Given the description of an element on the screen output the (x, y) to click on. 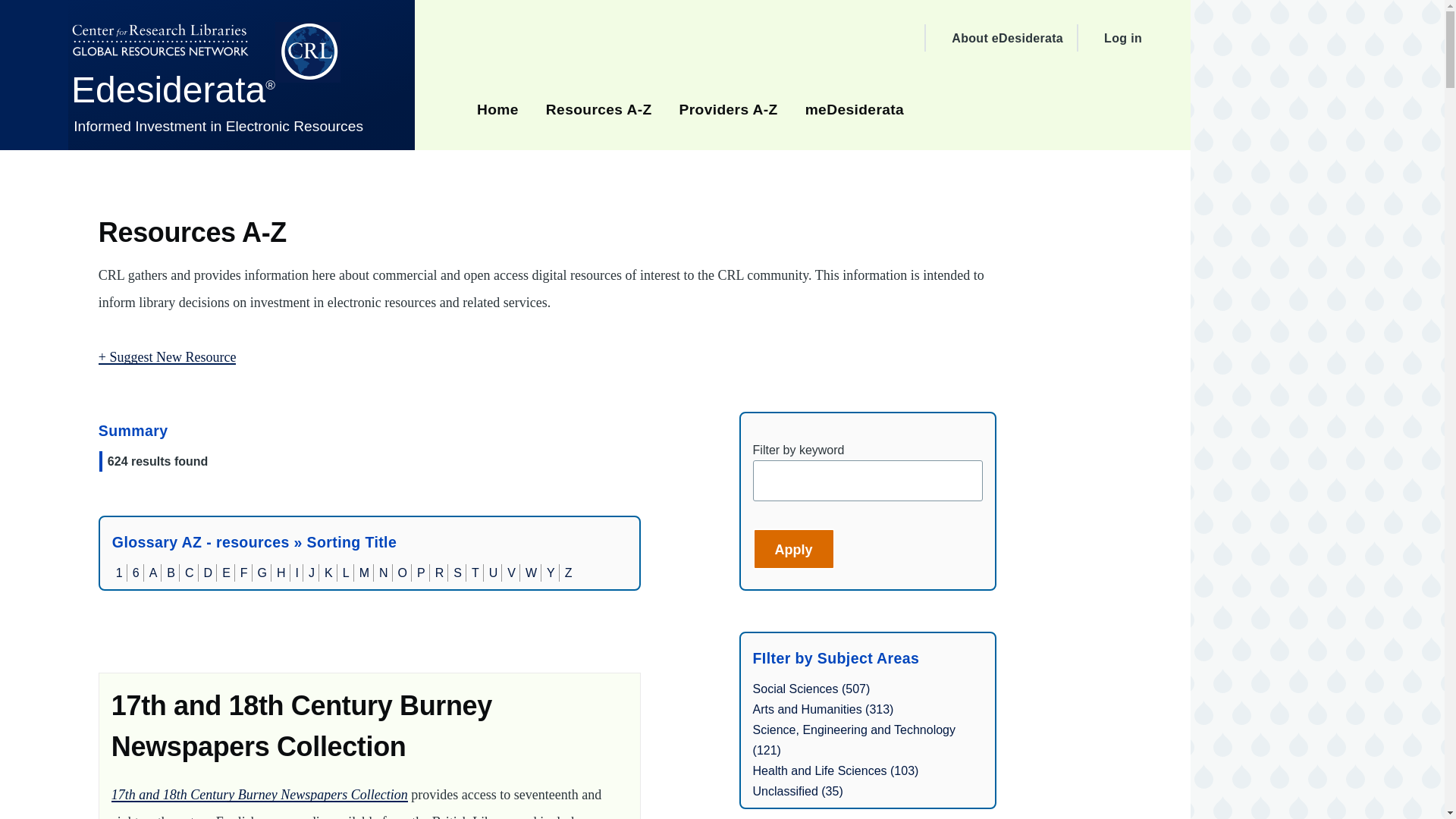
meDesiderata (854, 108)
Track resources of direct interest to you. (854, 108)
Apply (793, 548)
About eDesiderata (1007, 37)
Log in (1122, 37)
17th and 18th Century Burney Newspapers Collection (302, 727)
Providers A-Z (728, 108)
Resources A-Z (599, 108)
Skip to main content (595, 6)
